Given the description of an element on the screen output the (x, y) to click on. 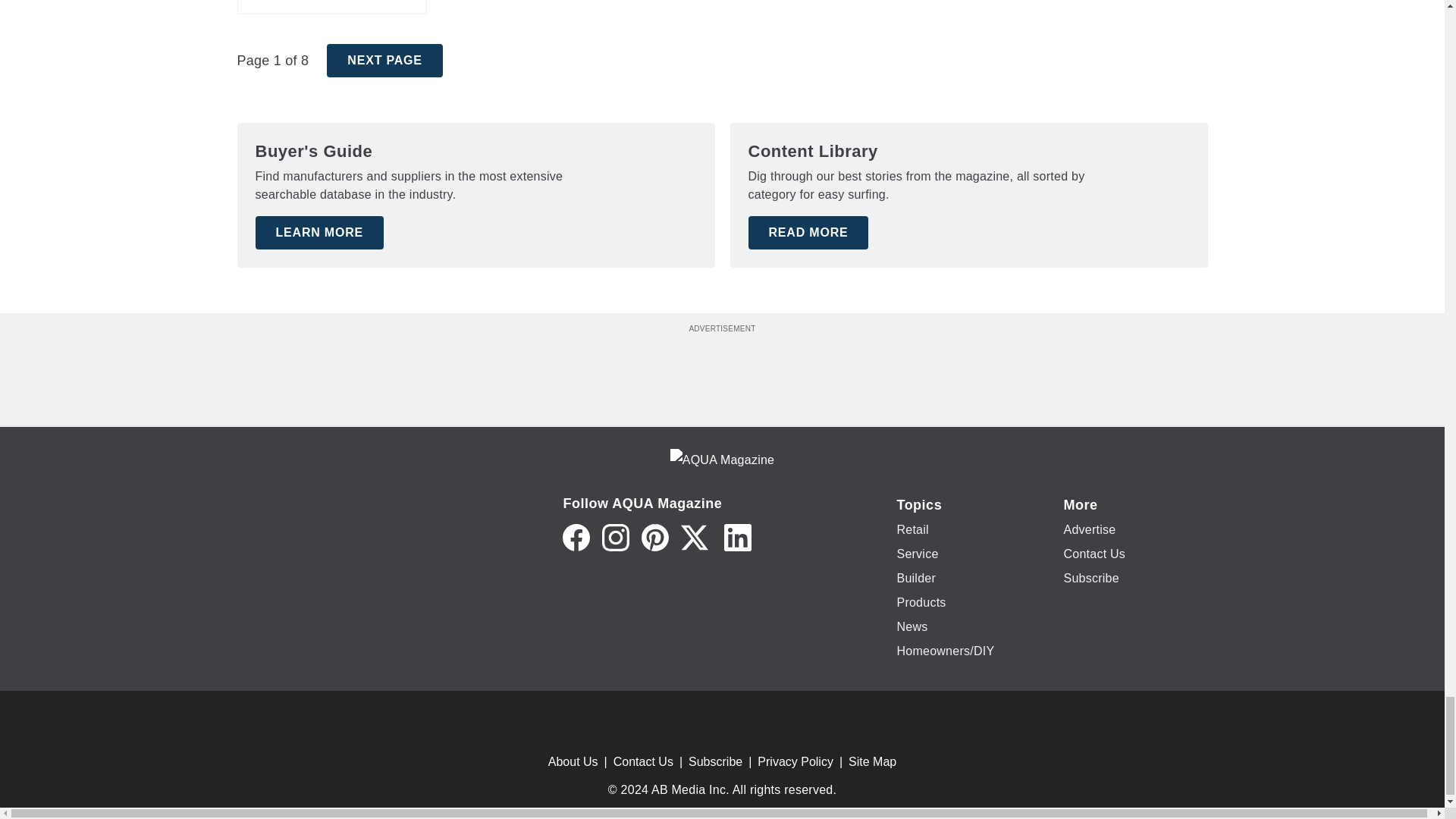
Facebook icon (575, 537)
LinkedIn icon (737, 537)
Twitter X icon (694, 537)
Instagram icon (615, 537)
Pinterest icon (655, 537)
